Given the description of an element on the screen output the (x, y) to click on. 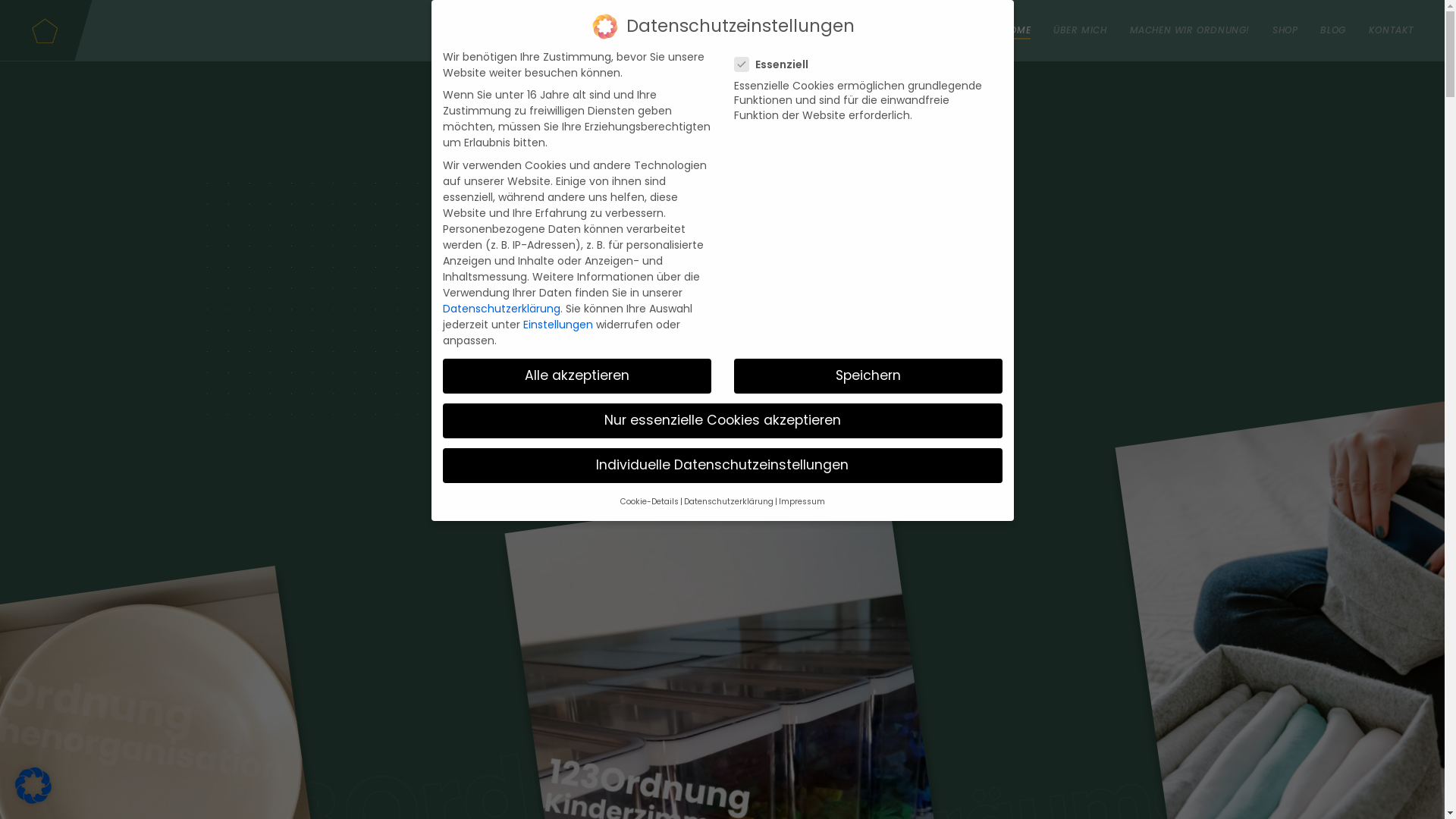
Nur essenzielle Cookies akzeptieren Element type: text (722, 420)
BLOG Element type: text (1332, 30)
Einstellungen Element type: text (558, 324)
SHOP Element type: text (1284, 30)
HOME Element type: text (1016, 30)
Alle akzeptieren Element type: text (576, 375)
Impressum Element type: text (801, 501)
MACHEN WIR ORDNUNG! Element type: text (1189, 30)
KONTAKT Element type: text (1391, 30)
Individuelle Datenschutzeinstellungen Element type: text (722, 465)
Speichern Element type: text (868, 375)
Cookie-Details Element type: text (649, 501)
